Given the description of an element on the screen output the (x, y) to click on. 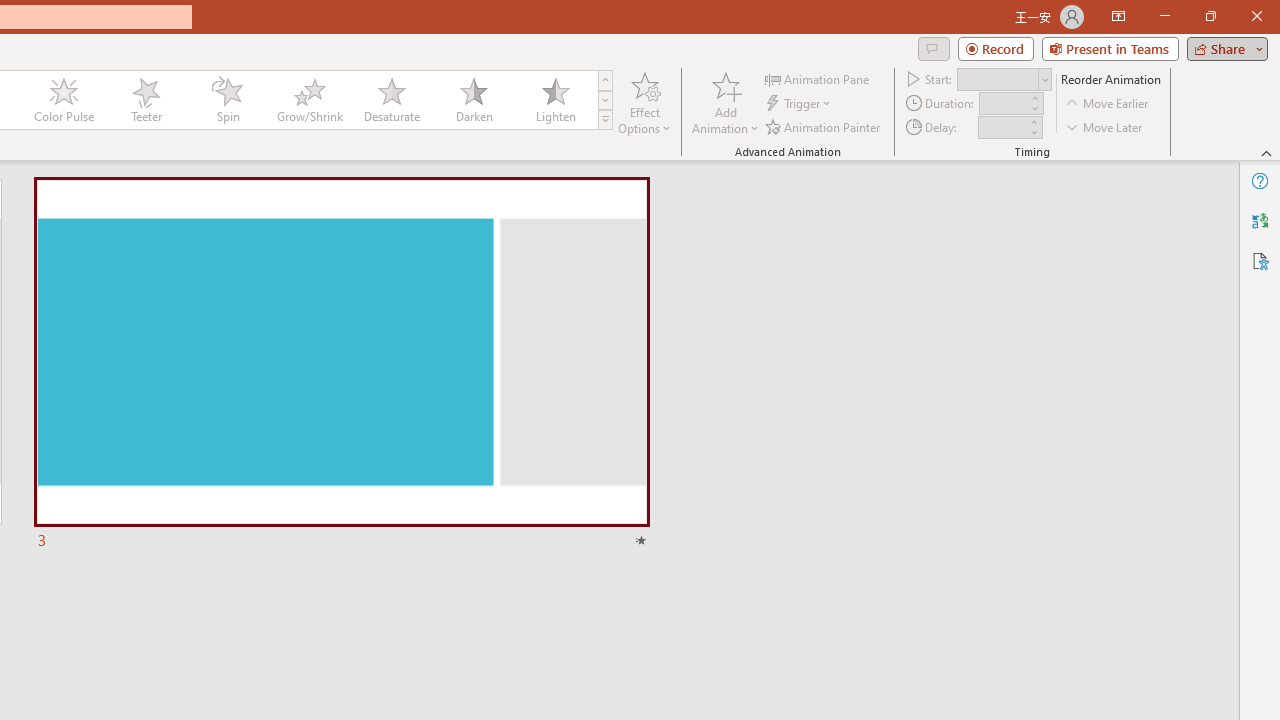
Effect Options (644, 102)
Animation Pane (818, 78)
Color Pulse (63, 100)
Add Animation (725, 102)
Animation Painter (824, 126)
Spin (227, 100)
Move Earlier (1107, 103)
